Given the description of an element on the screen output the (x, y) to click on. 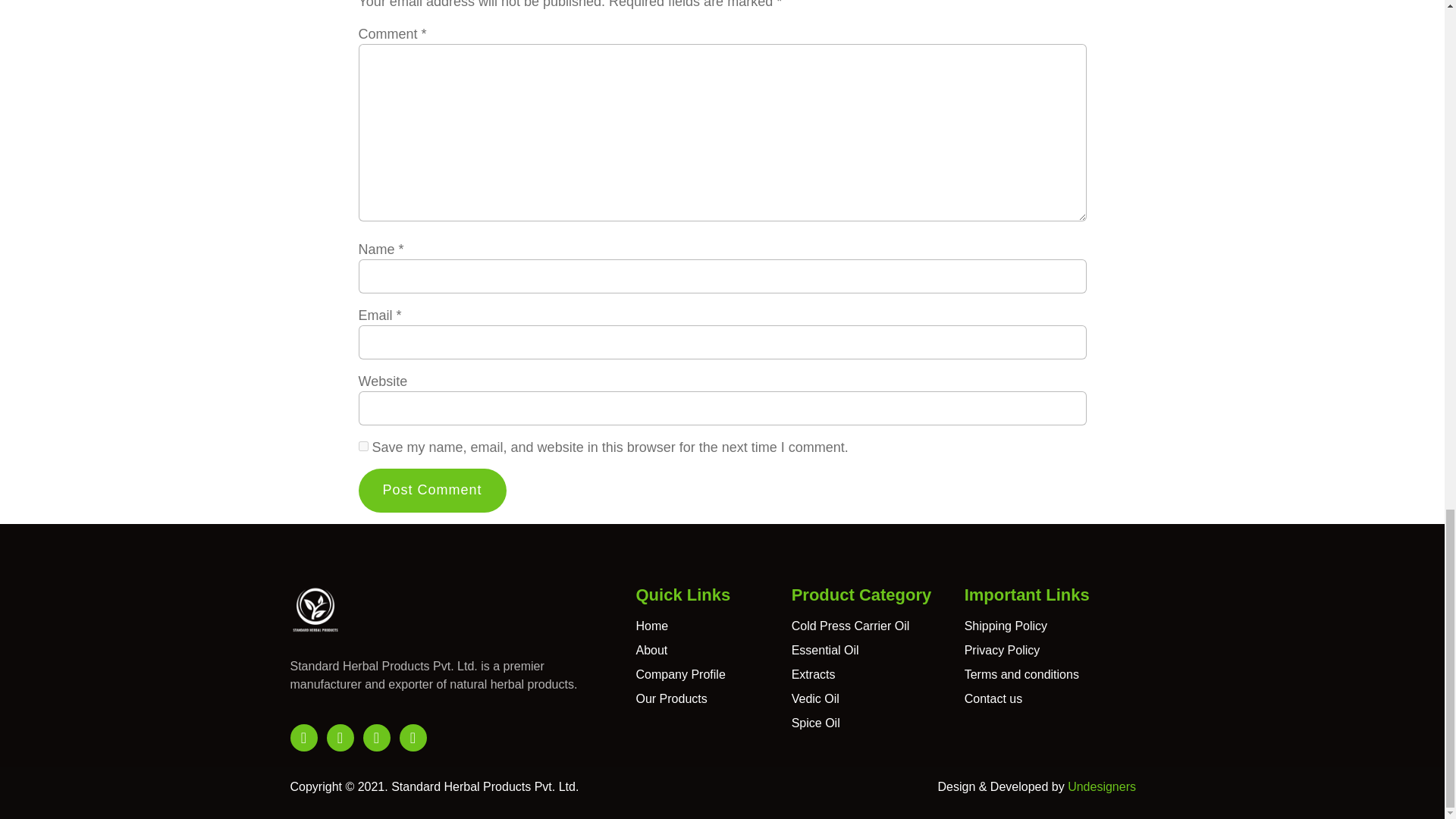
Post Comment (431, 490)
yes (363, 446)
Post Comment (431, 490)
